Given the description of an element on the screen output the (x, y) to click on. 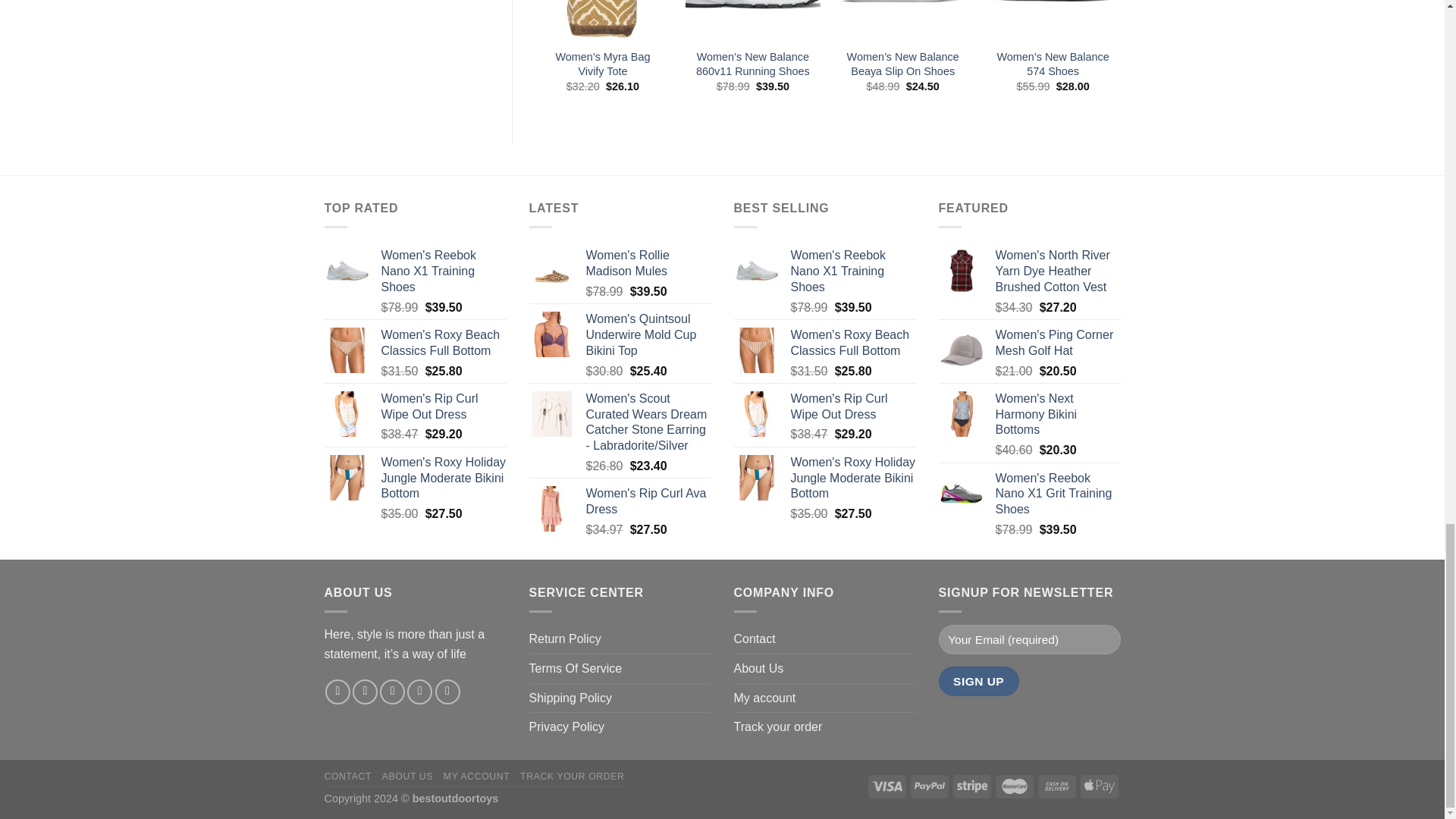
Sign Up (979, 681)
